Given the description of an element on the screen output the (x, y) to click on. 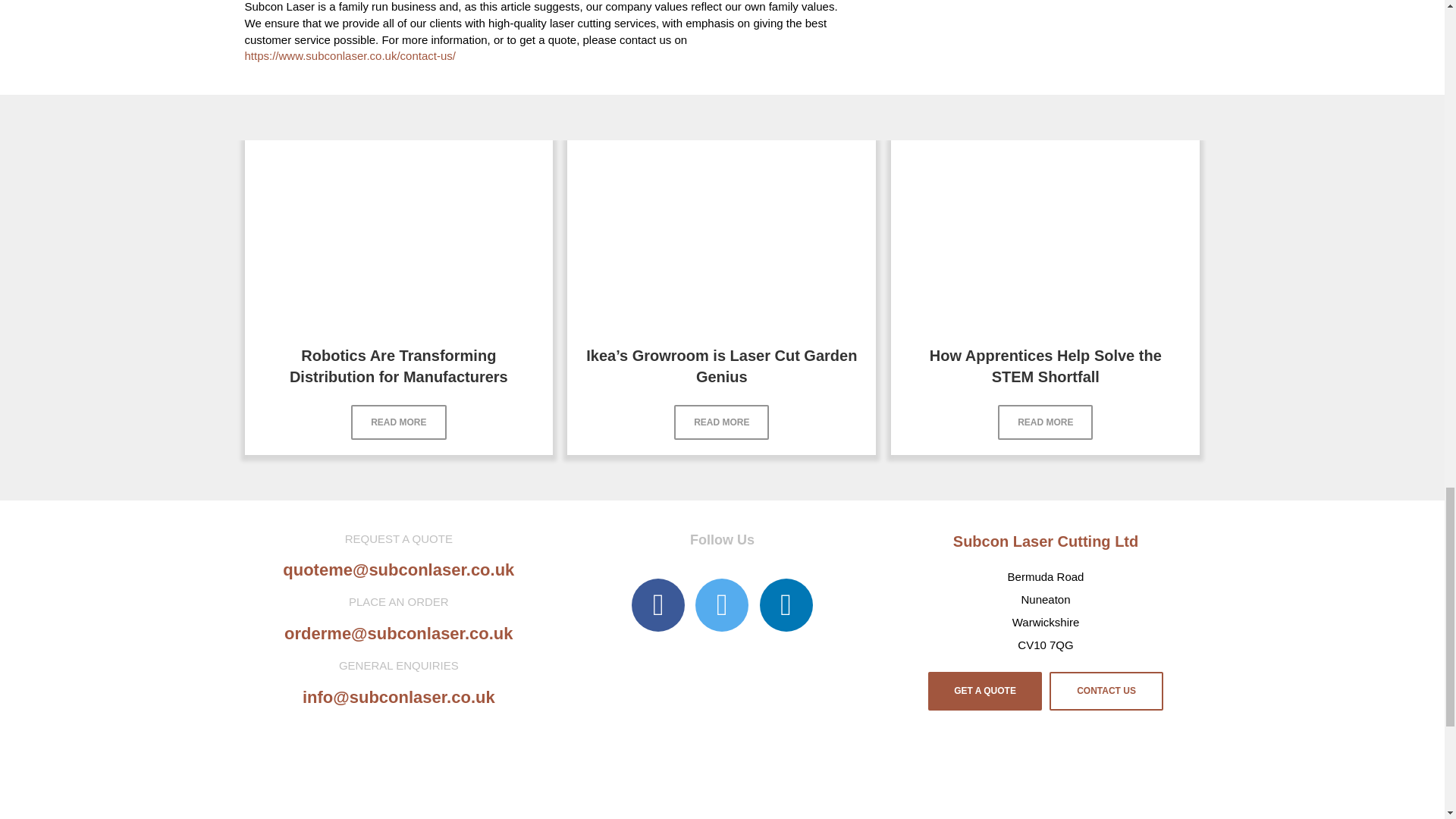
How Apprentices Help Solve the STEM Shortfall (1045, 233)
How Apprentices Help Solve the STEM Shortfall (1045, 365)
GET A QUOTE (985, 691)
Robotics Are Transforming Distribution for Manufacturers (398, 233)
Click Here (397, 421)
Robotics Are Transforming Distribution for Manufacturers (398, 365)
Click Here (1045, 421)
Click Here (721, 421)
